Given the description of an element on the screen output the (x, y) to click on. 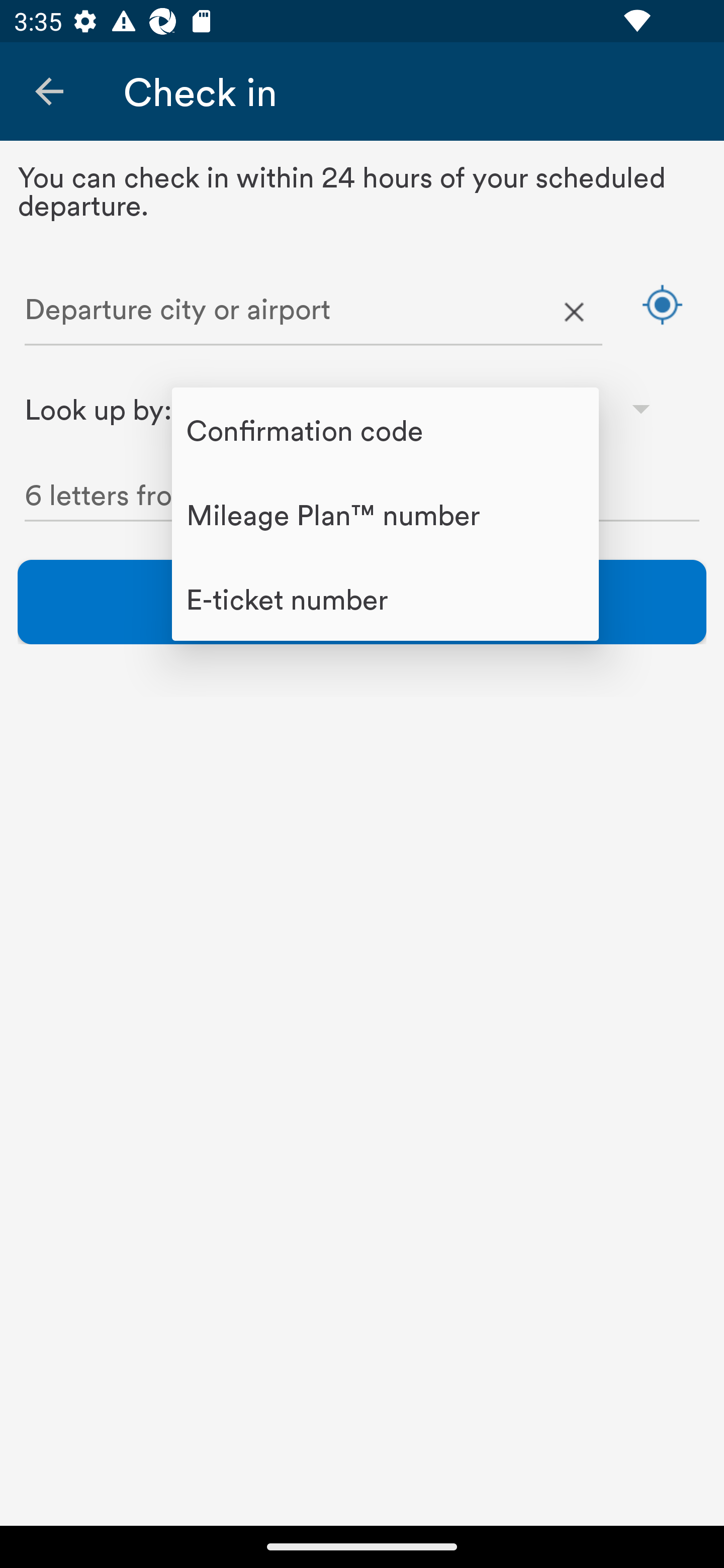
Confirmation code (385, 429)
Mileage Plan™ number (385, 513)
E-ticket number (385, 598)
